Given the description of an element on the screen output the (x, y) to click on. 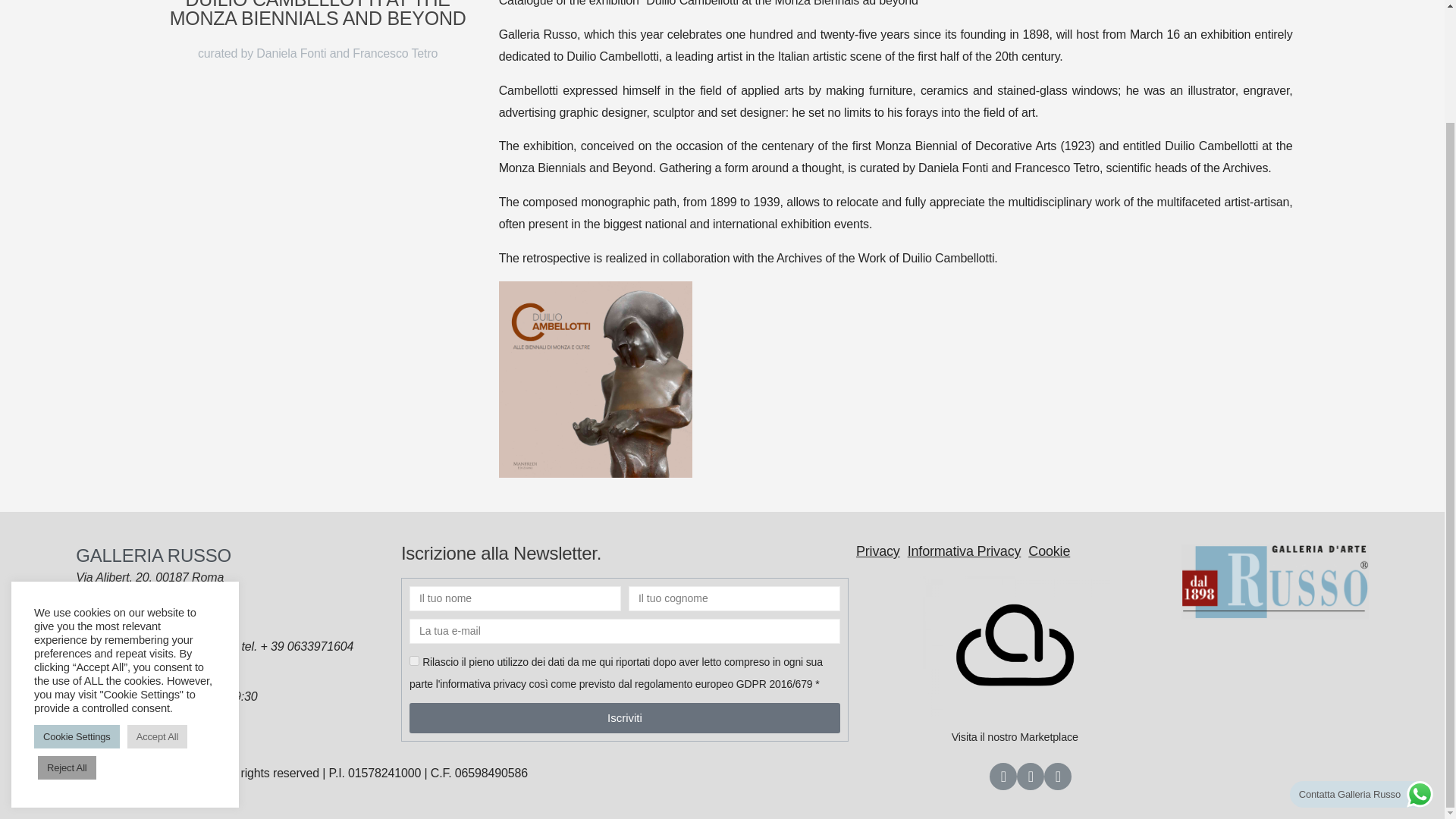
Iscriviti (624, 717)
Cookie (1048, 550)
Privacy (877, 550)
Accept All (157, 603)
Informativa Privacy (964, 550)
Reject All (66, 634)
Cookie Settings (76, 603)
